Given the description of an element on the screen output the (x, y) to click on. 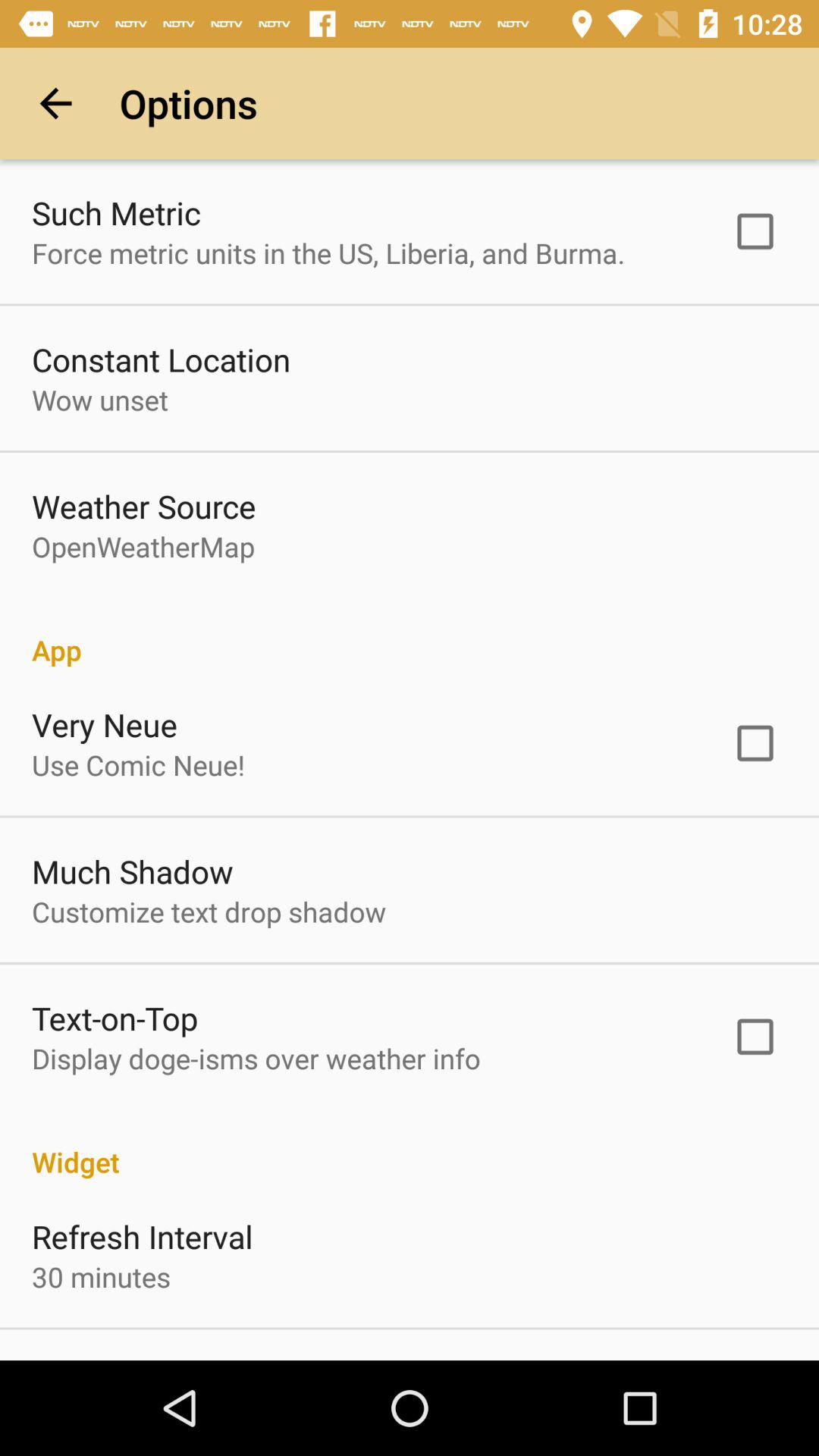
tap openweathermap (142, 546)
